Given the description of an element on the screen output the (x, y) to click on. 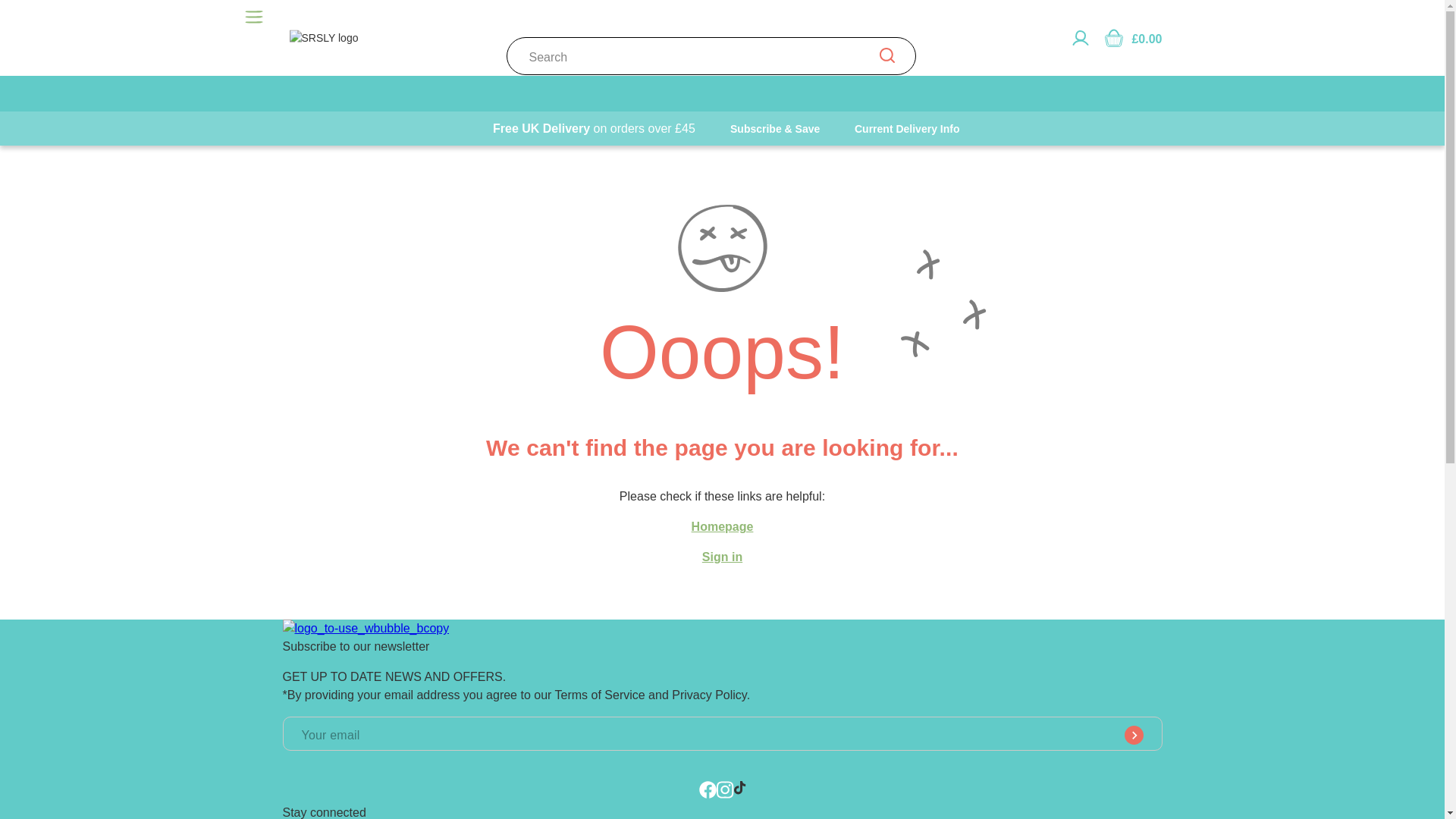
SKIP TO CONTENT (48, 18)
SRSLYLowCarb (365, 627)
Basket (1113, 37)
Log in (1080, 37)
